Given the description of an element on the screen output the (x, y) to click on. 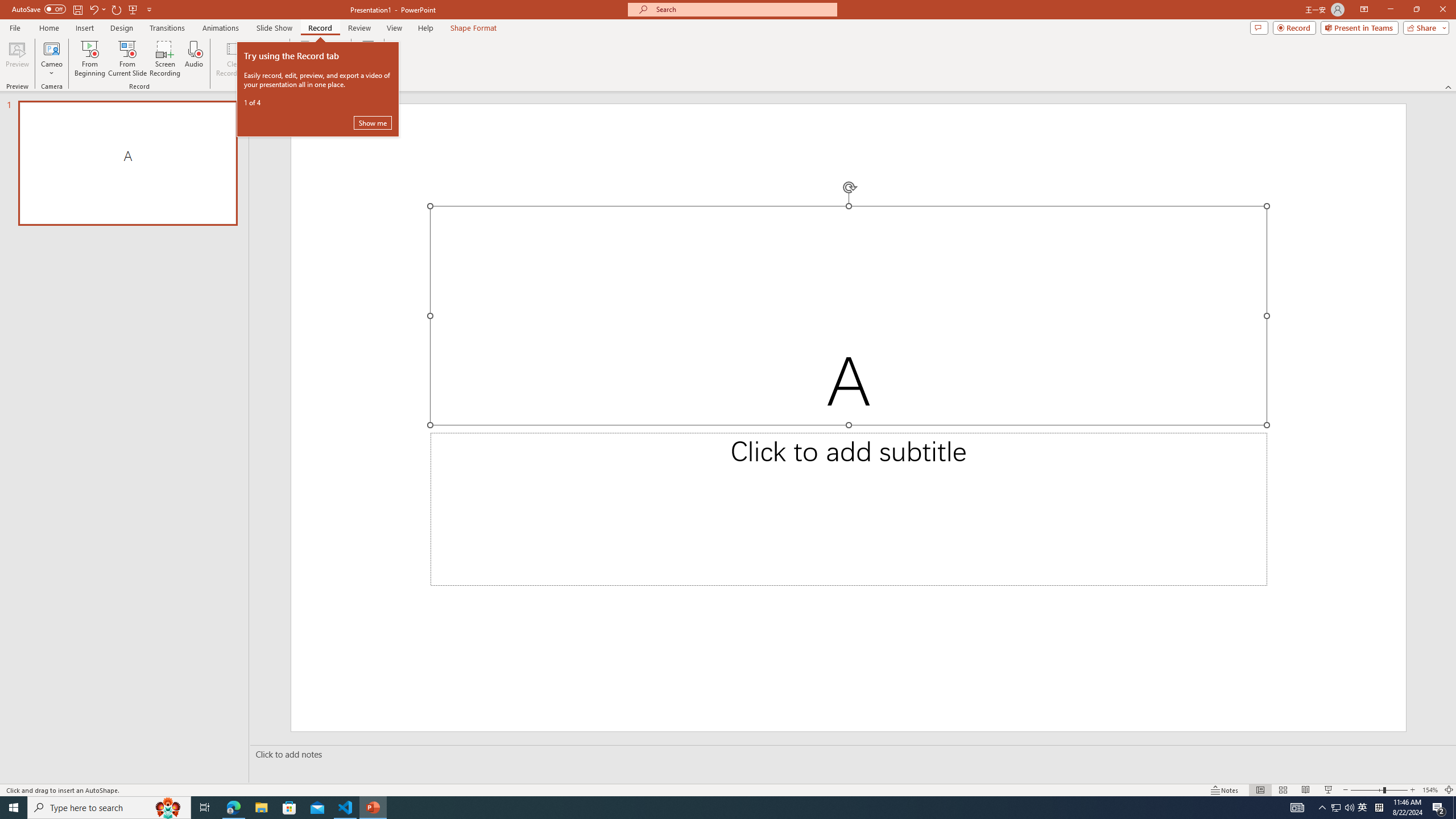
Show me (372, 122)
Screen Recording (165, 58)
From Current Slide... (127, 58)
